Given the description of an element on the screen output the (x, y) to click on. 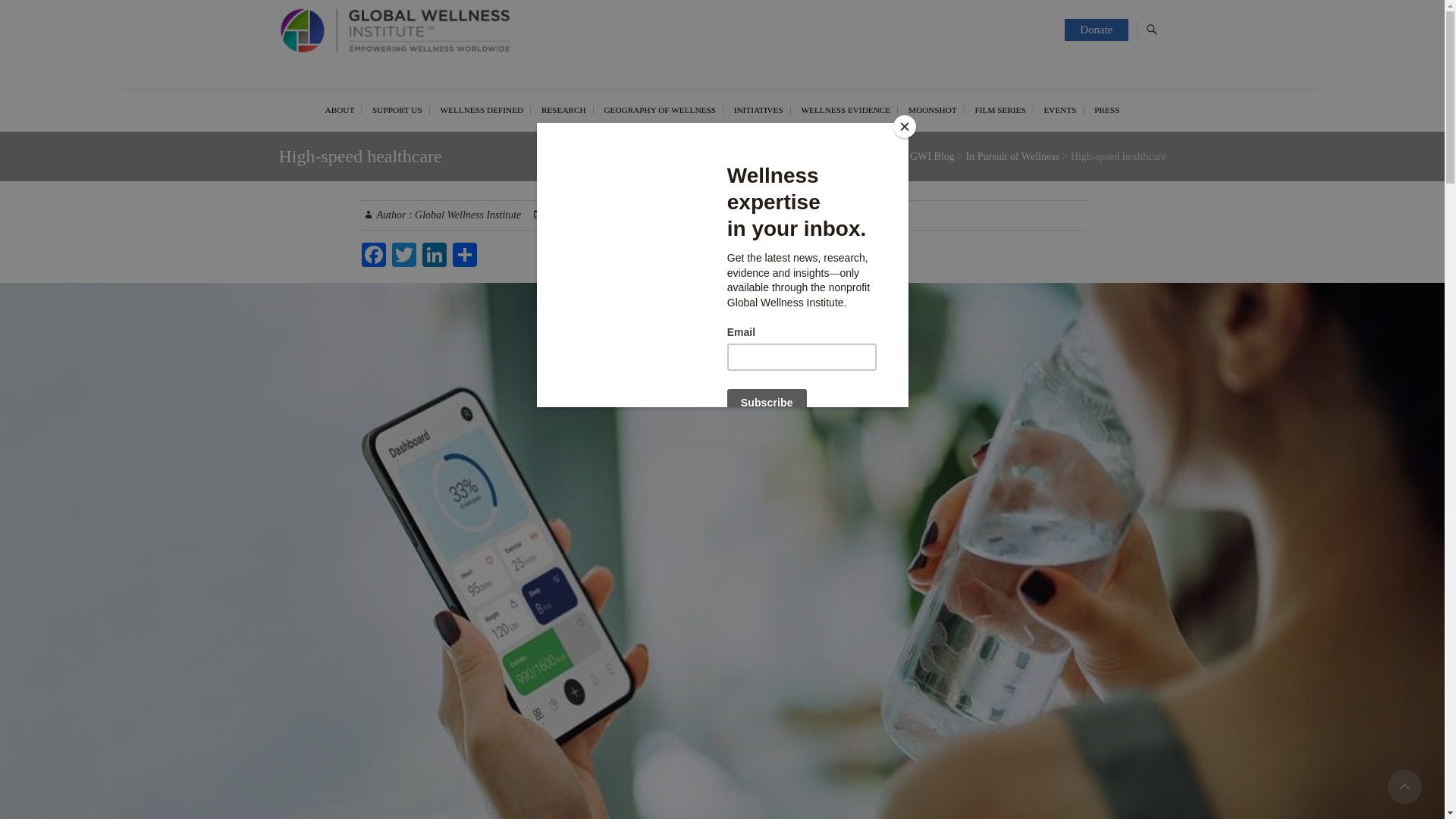
Donate (1095, 29)
GEOGRAPHY OF WELLNESS (659, 110)
LinkedIn (433, 256)
Go to the In Pursuit of Wellness Category archives. (1012, 156)
SUPPORT US (397, 110)
Global Wellness Institute (419, 33)
6:56 pm (615, 214)
Global Wellness Institute (374, 96)
WELLNESS DEFINED (481, 110)
ABOUT (339, 110)
Global Wellness Institute (374, 96)
Go to Top (1404, 786)
Go to Global Wellness Institute. (837, 156)
High-speed healthcare (466, 214)
RESEARCH (564, 110)
